Given the description of an element on the screen output the (x, y) to click on. 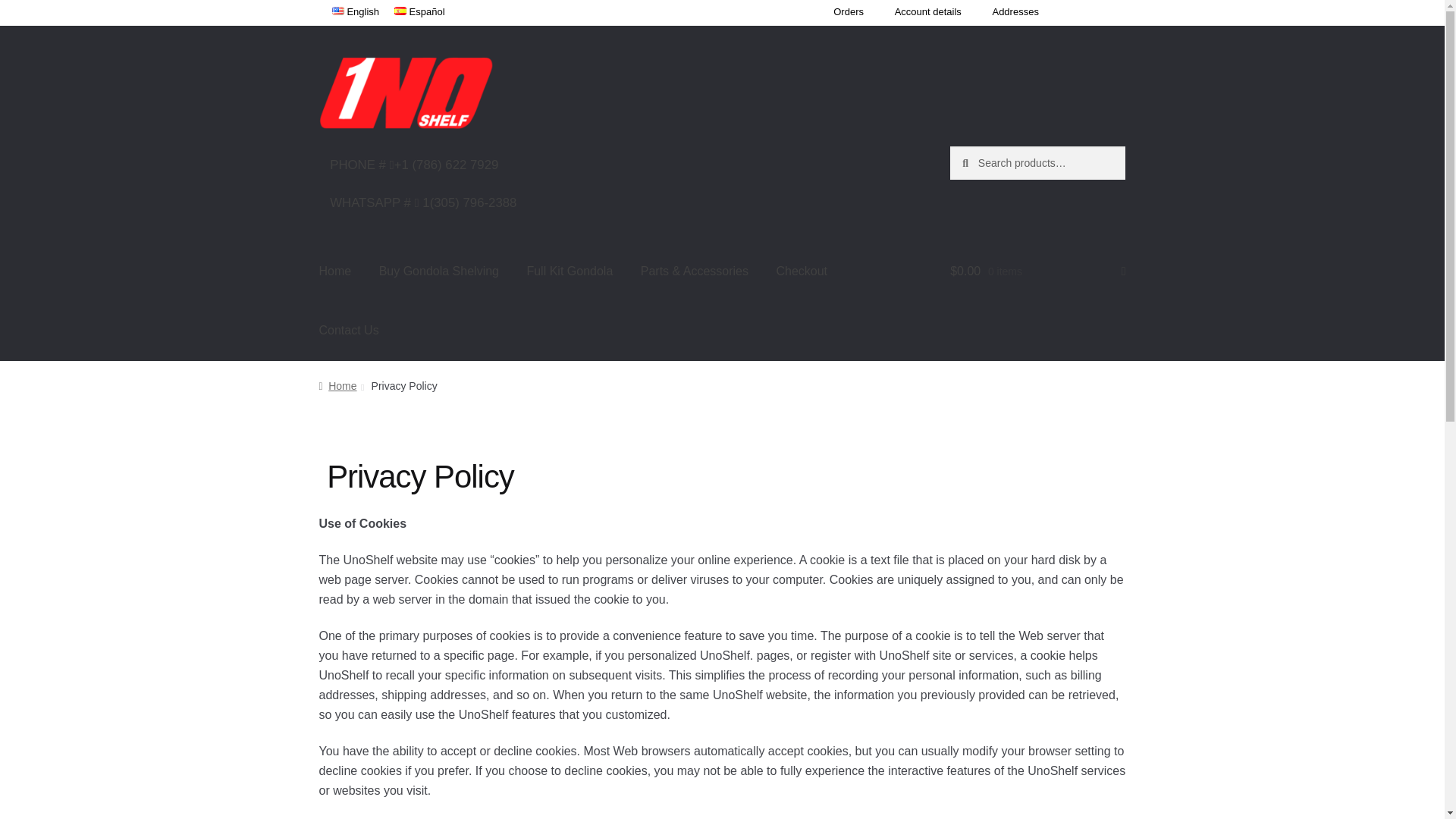
Checkout (801, 272)
Orders (848, 13)
Buy Gondola Shelving (438, 272)
Full Kit Gondola (568, 272)
Contact Us (349, 330)
View your shopping cart (1037, 272)
Home (335, 272)
Account details (928, 13)
English (355, 13)
Addresses (1014, 13)
